Given the description of an element on the screen output the (x, y) to click on. 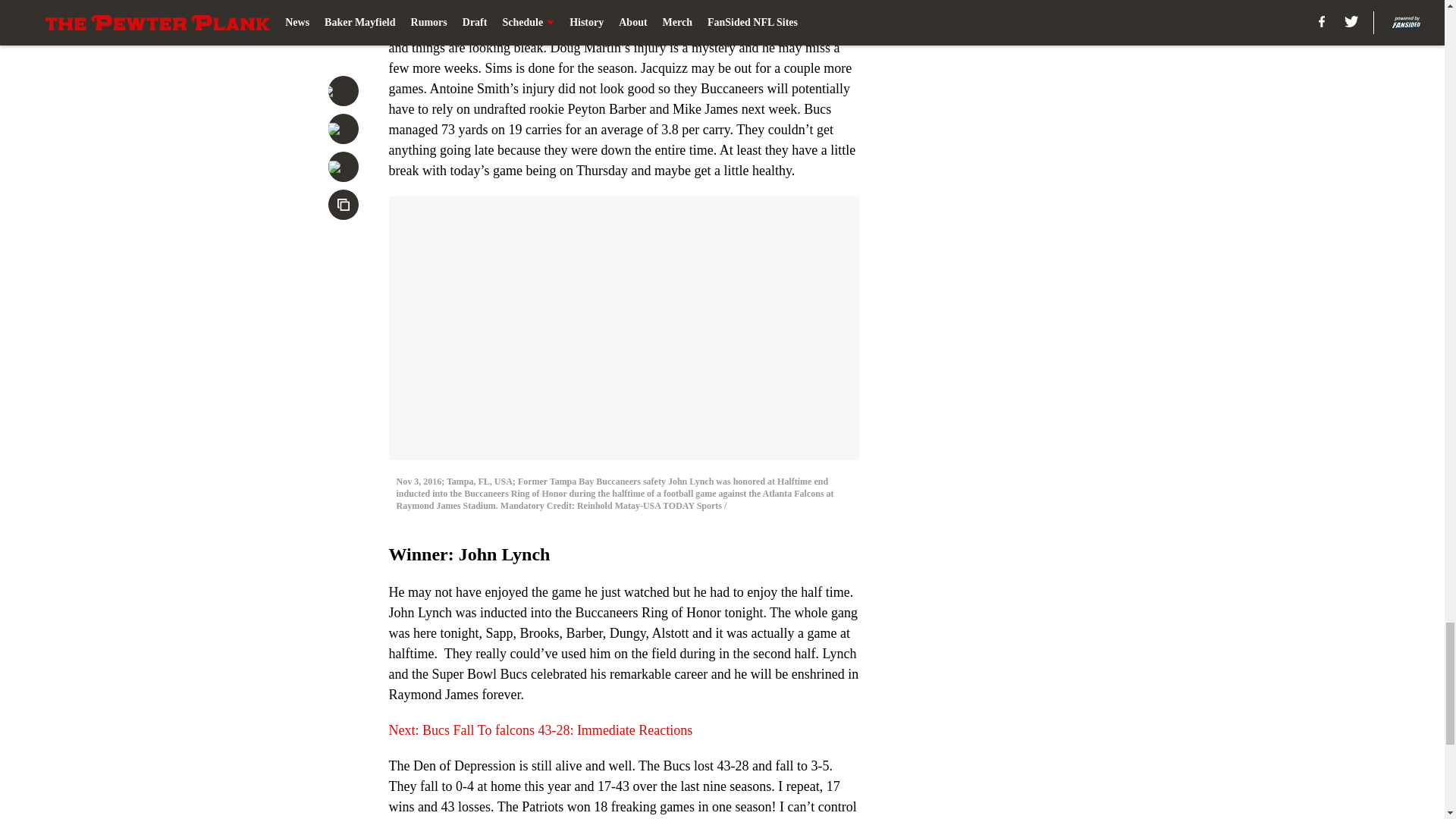
Next: Bucs Fall To falcons 43-28: Immediate Reactions (540, 729)
